Given the description of an element on the screen output the (x, y) to click on. 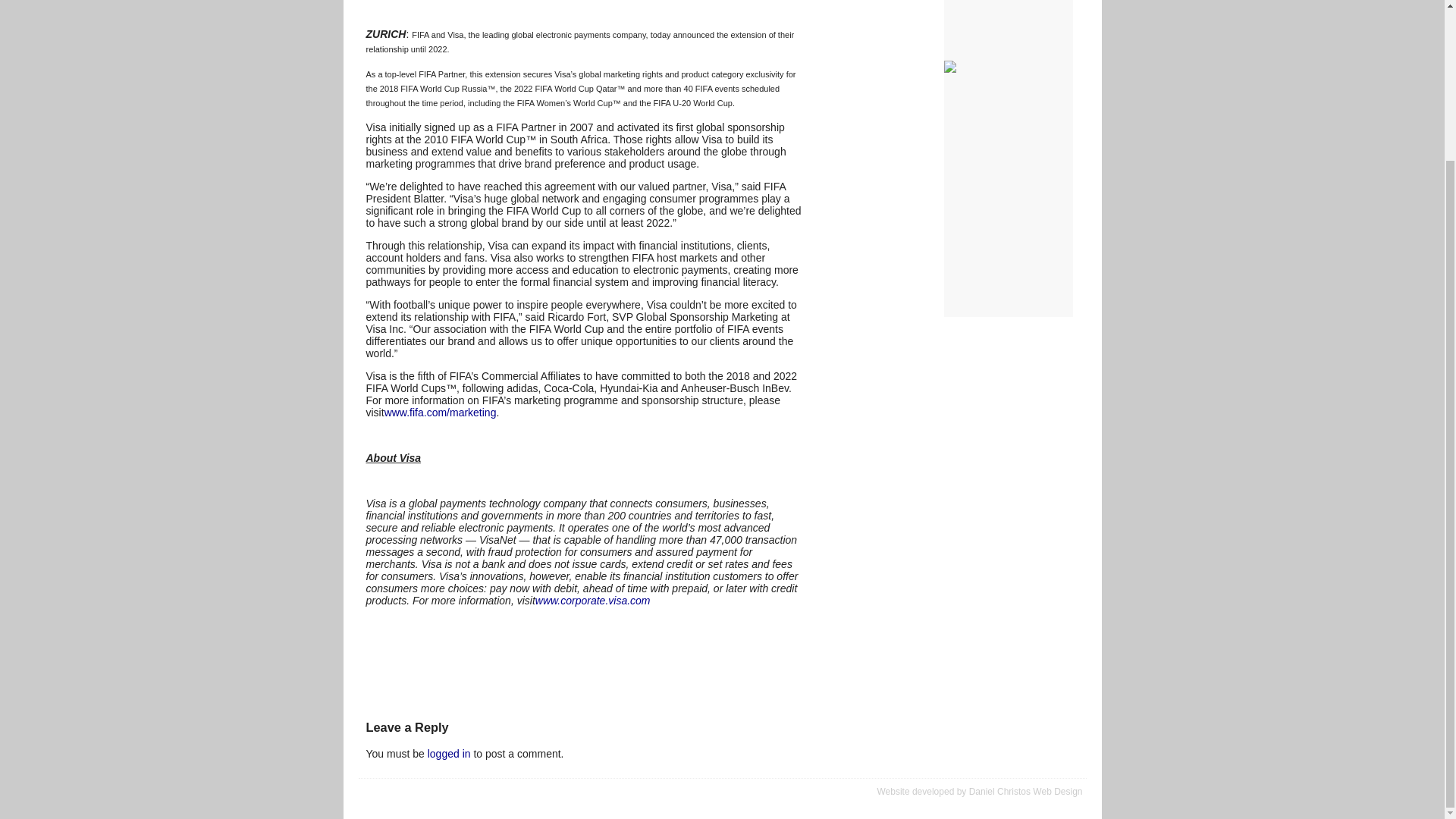
Daniel Christos Web Design (1026, 791)
logged in (449, 753)
www.corporate.visa.com (592, 600)
